Given the description of an element on the screen output the (x, y) to click on. 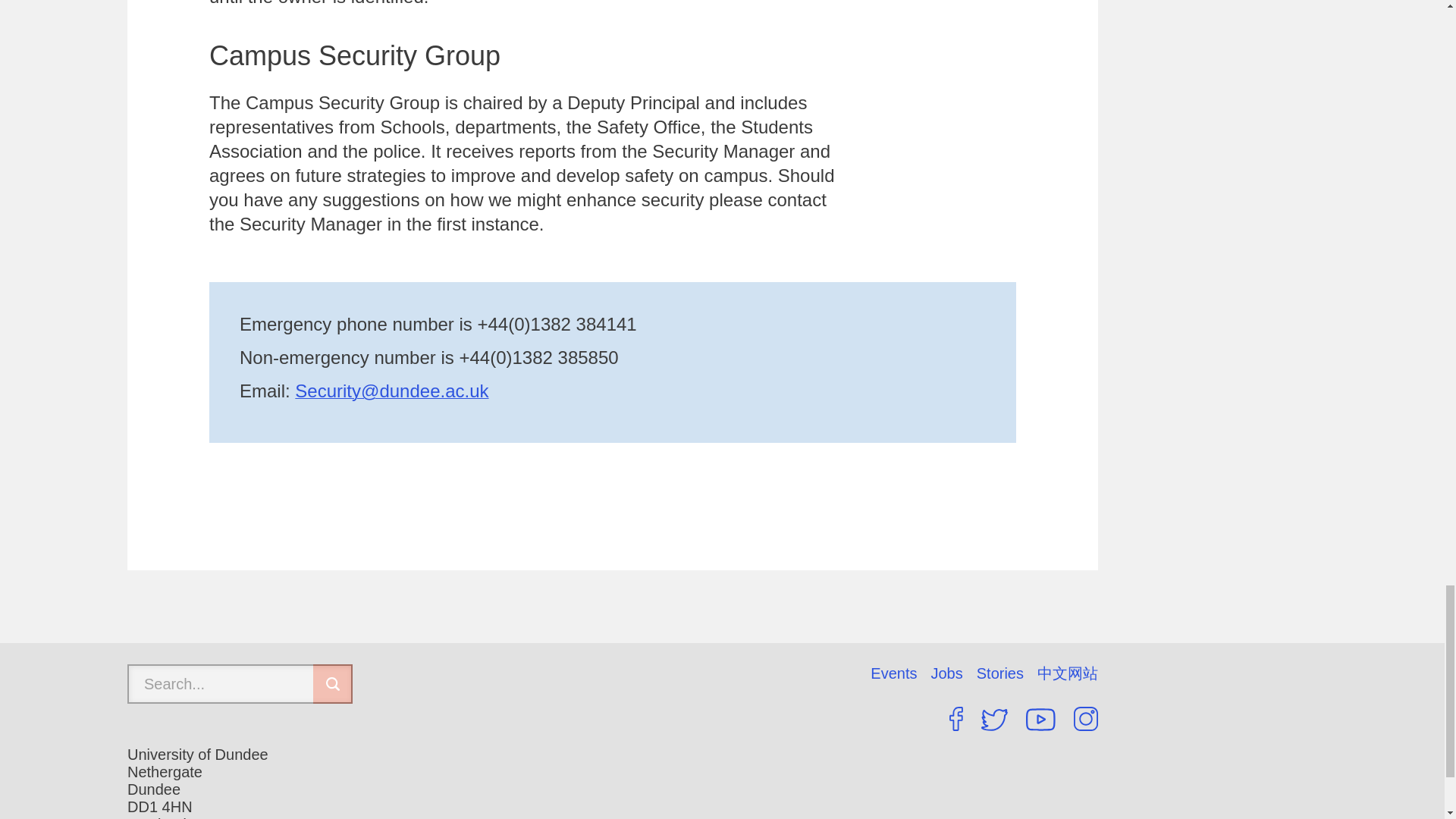
Instagram (1085, 718)
Explore our Chinese language website  (1066, 673)
Find events that are happening at the University of Dundee (900, 673)
Twitter (994, 719)
Youtube (1040, 719)
